Given the description of an element on the screen output the (x, y) to click on. 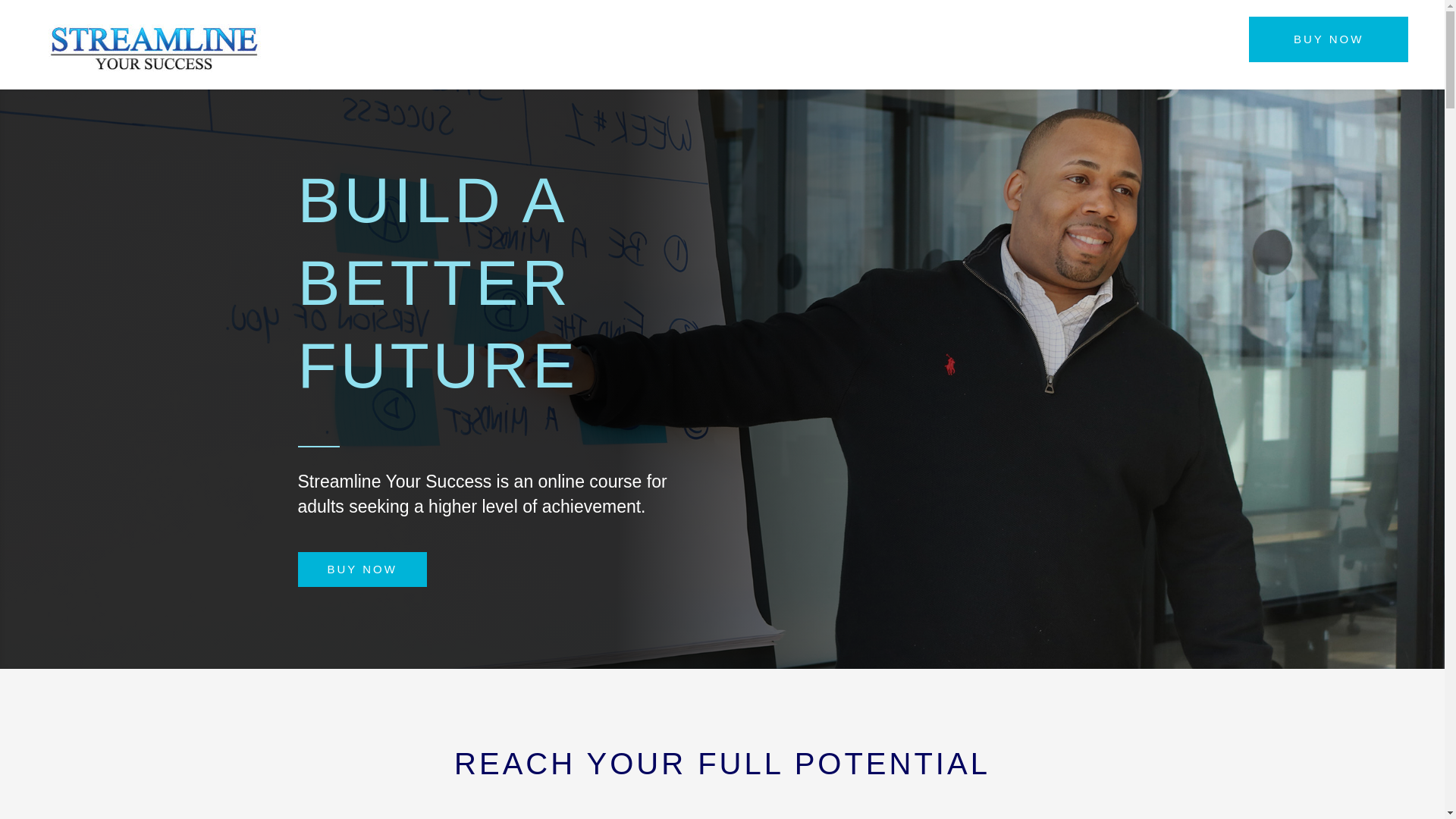
BUY NOW (361, 570)
Streamline-Your-Success-Long (149, 48)
BUY NOW (1328, 39)
